Given the description of an element on the screen output the (x, y) to click on. 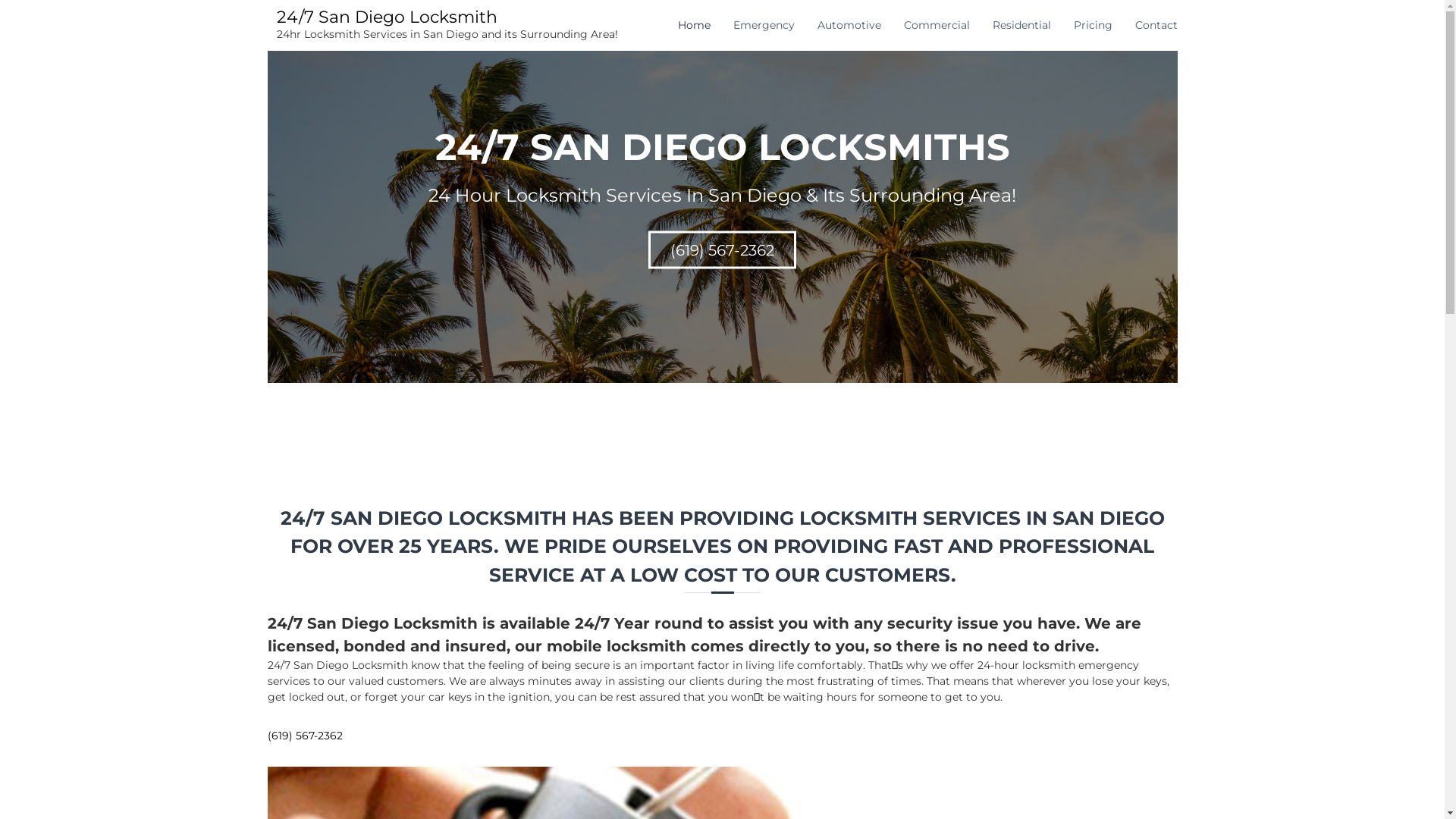
Commercial Element type: text (936, 24)
Residential Element type: text (1020, 24)
24/7 San Diego Locksmith Element type: text (386, 16)
Skip to content Element type: text (0, 0)
Contact Element type: text (1155, 24)
Pricing Element type: text (1092, 24)
Automotive Element type: text (849, 24)
Home Element type: text (693, 24)
(619) 567-2362 Element type: text (304, 735)
Emergency Element type: text (762, 24)
(619) 567-2362 Element type: text (722, 249)
